Given the description of an element on the screen output the (x, y) to click on. 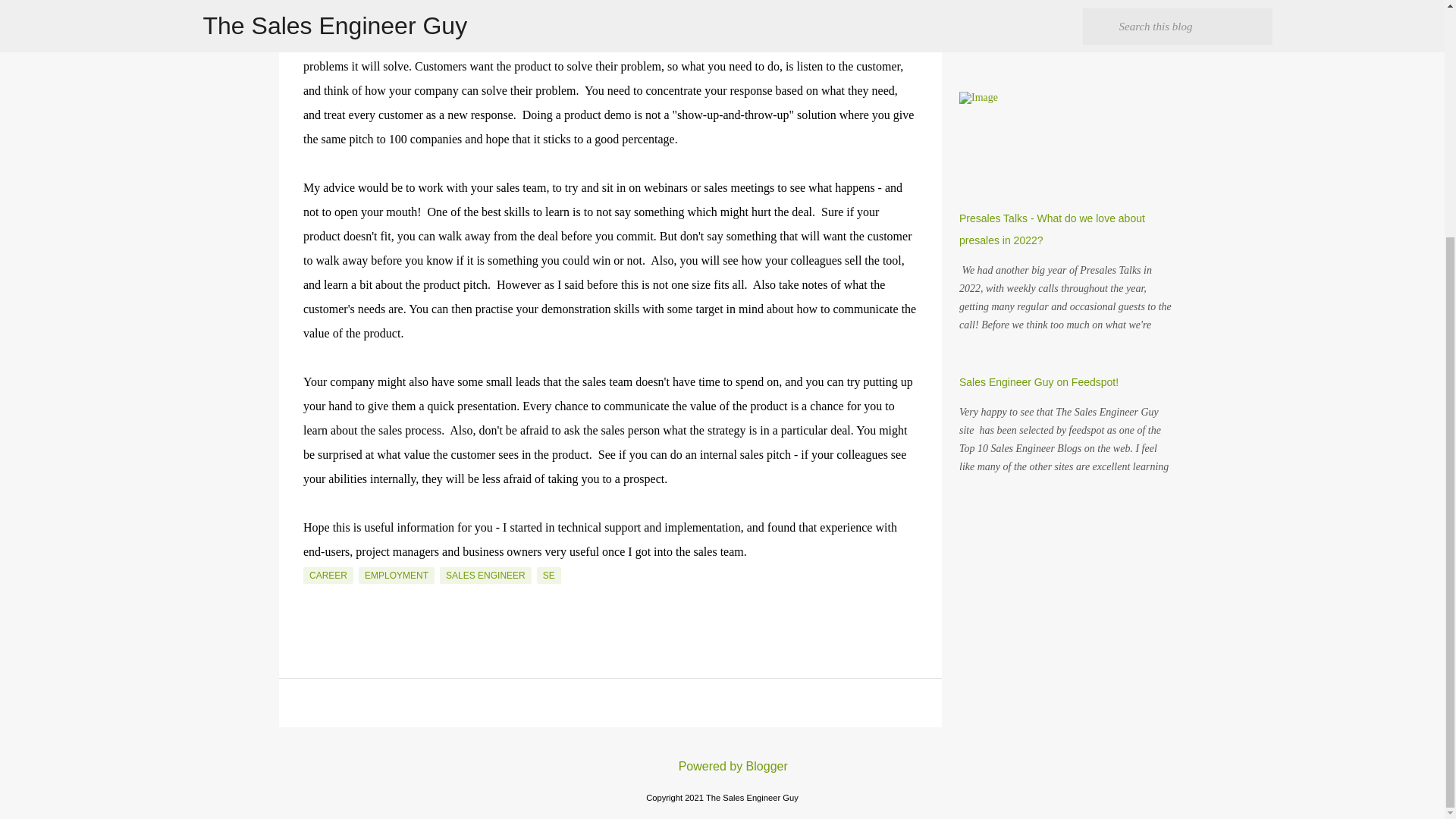
CAREER (327, 575)
SALES ENGINEER (485, 575)
EMPLOYMENT (395, 575)
SE (548, 575)
Powered by Blogger (721, 766)
Sales Engineer Guy on Feedspot! (1038, 381)
Presales Talks - What do we love about presales in 2022? (1051, 229)
